Given the description of an element on the screen output the (x, y) to click on. 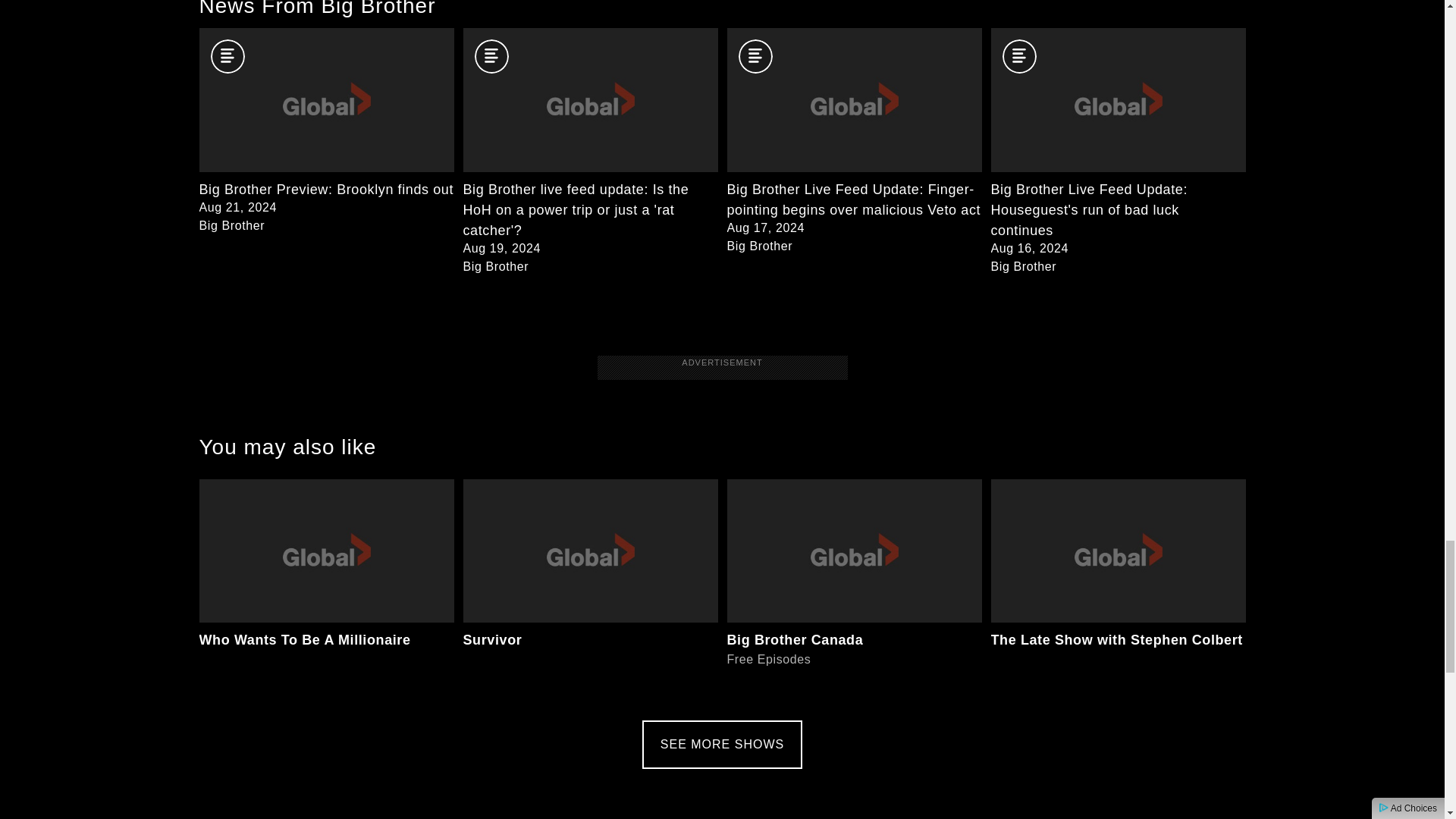
Survivor (590, 587)
The Late Show with Stephen Colbert (853, 587)
SEE MORE SHOWS (1117, 587)
Who Wants To Be A Millionaire (722, 744)
